Given the description of an element on the screen output the (x, y) to click on. 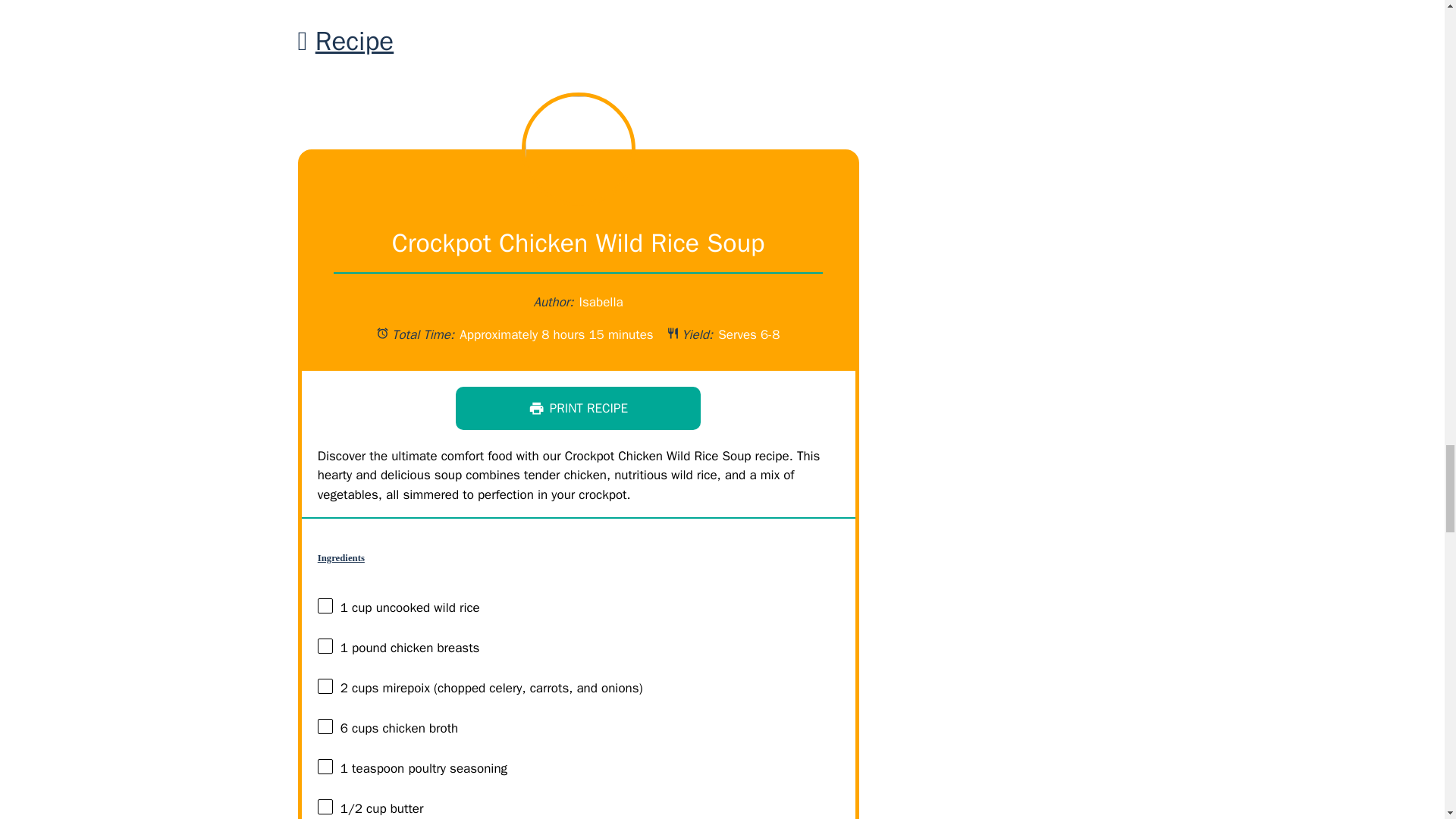
PRINT RECIPE (577, 407)
